Given the description of an element on the screen output the (x, y) to click on. 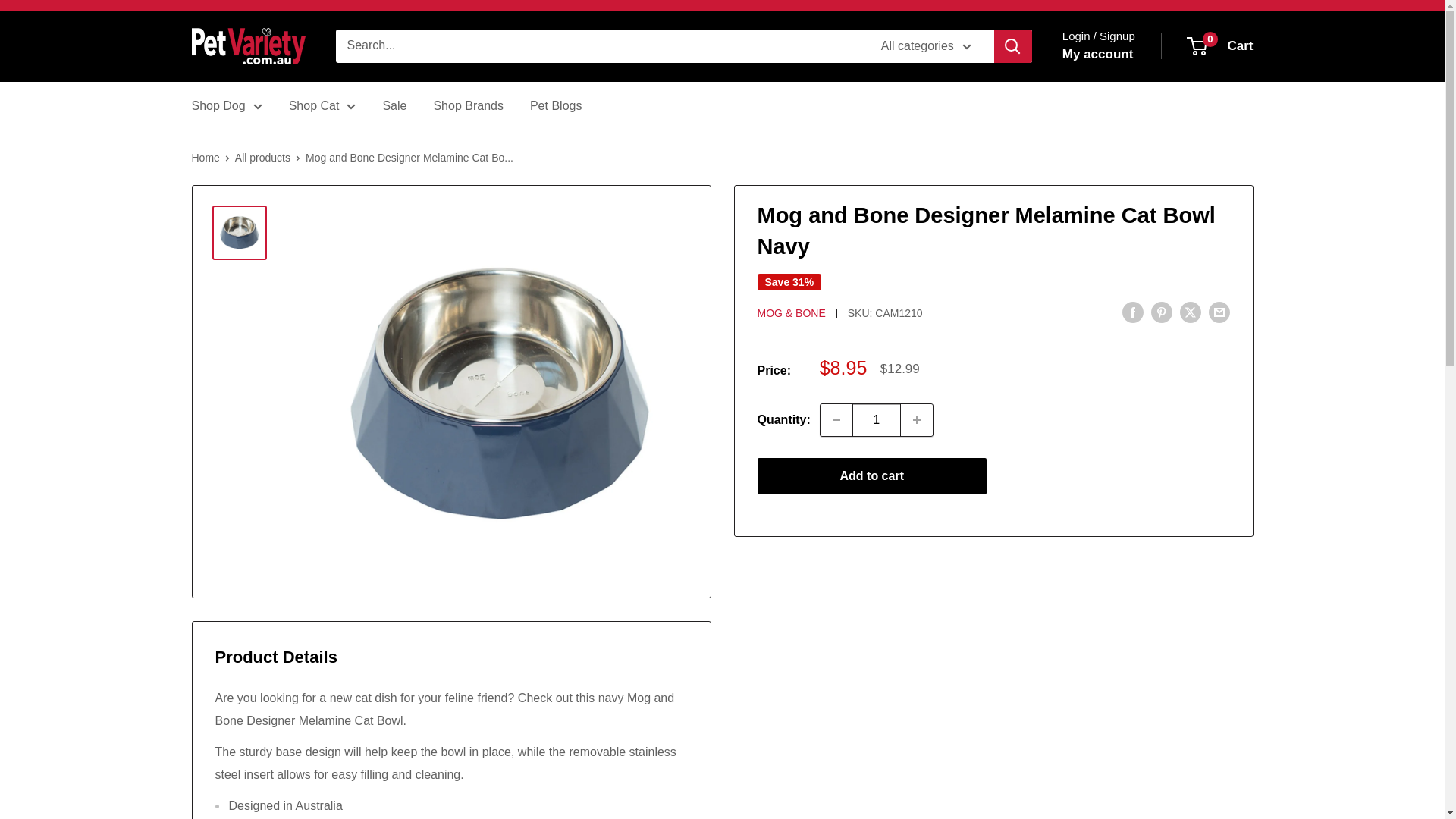
1 (876, 419)
Increase quantity by 1 (917, 419)
Decrease quantity by 1 (836, 419)
